Given the description of an element on the screen output the (x, y) to click on. 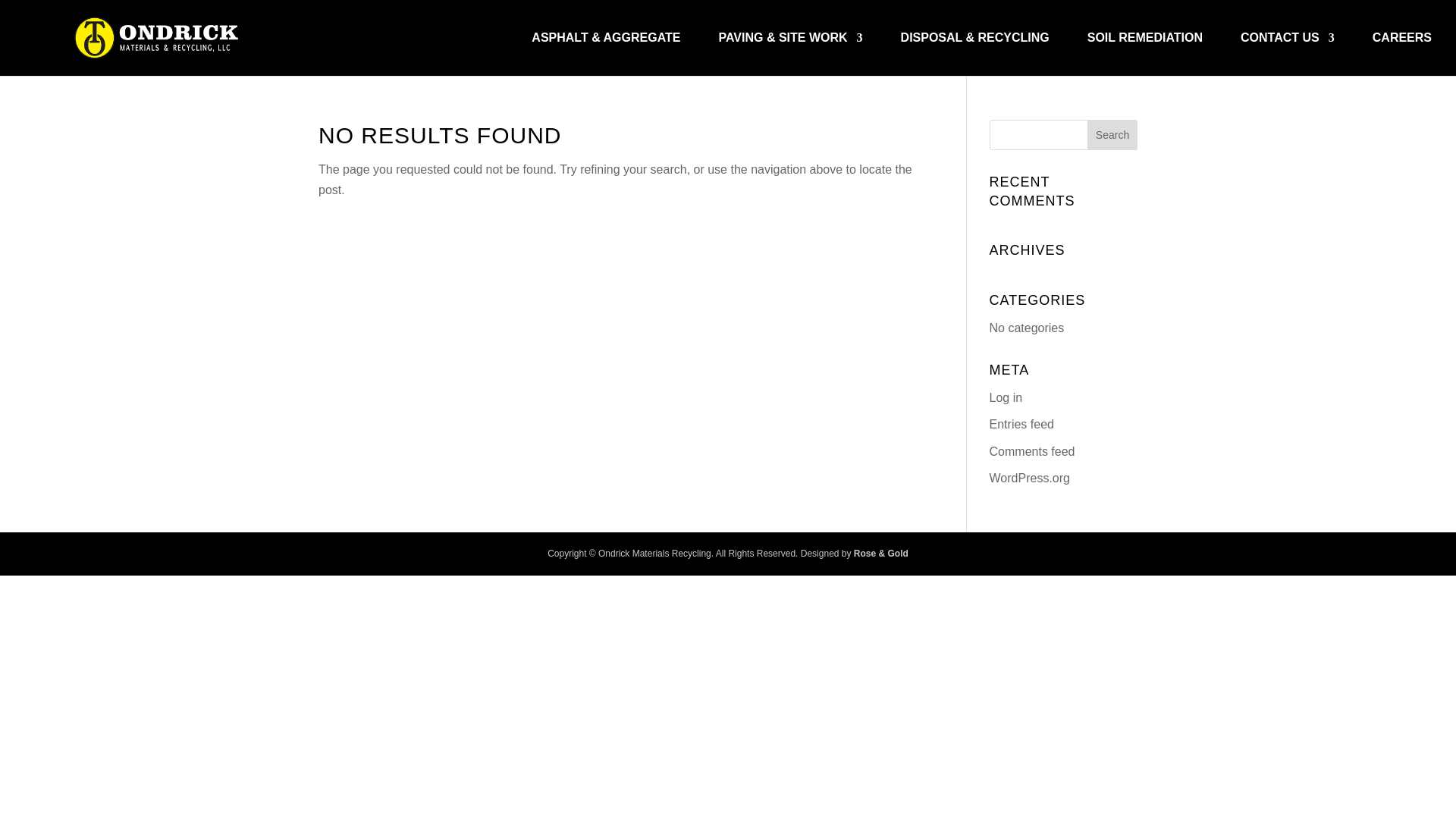
Log in (1006, 397)
Entries feed (1022, 423)
CONTACT US (1287, 54)
Search (1112, 134)
Comments feed (1032, 450)
Search (1112, 134)
WordPress.org (1030, 477)
CAREERS (1402, 54)
SOIL REMEDIATION (1144, 54)
